Given the description of an element on the screen output the (x, y) to click on. 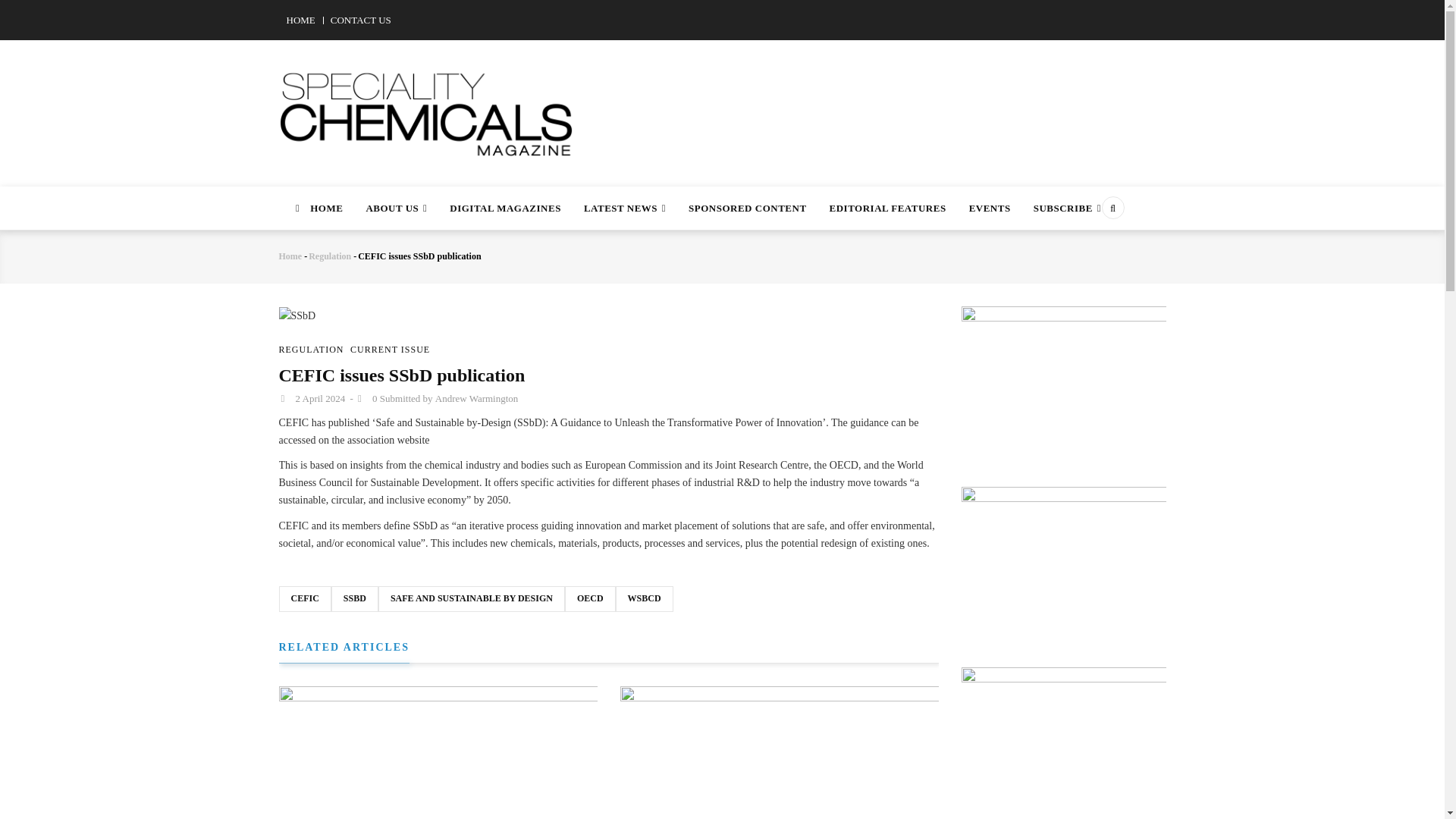
Home (427, 103)
CONTACT US (360, 19)
HOME (317, 208)
DIGITAL MAGAZINES (505, 208)
HOME (301, 19)
ABOUT US (395, 208)
LATEST NEWS (624, 208)
